Given the description of an element on the screen output the (x, y) to click on. 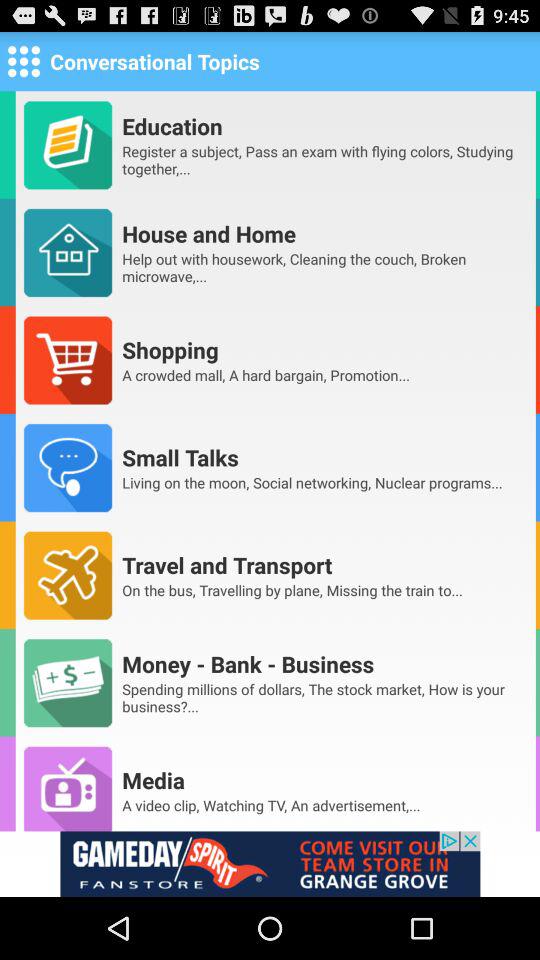
menu choice (23, 60)
